Given the description of an element on the screen output the (x, y) to click on. 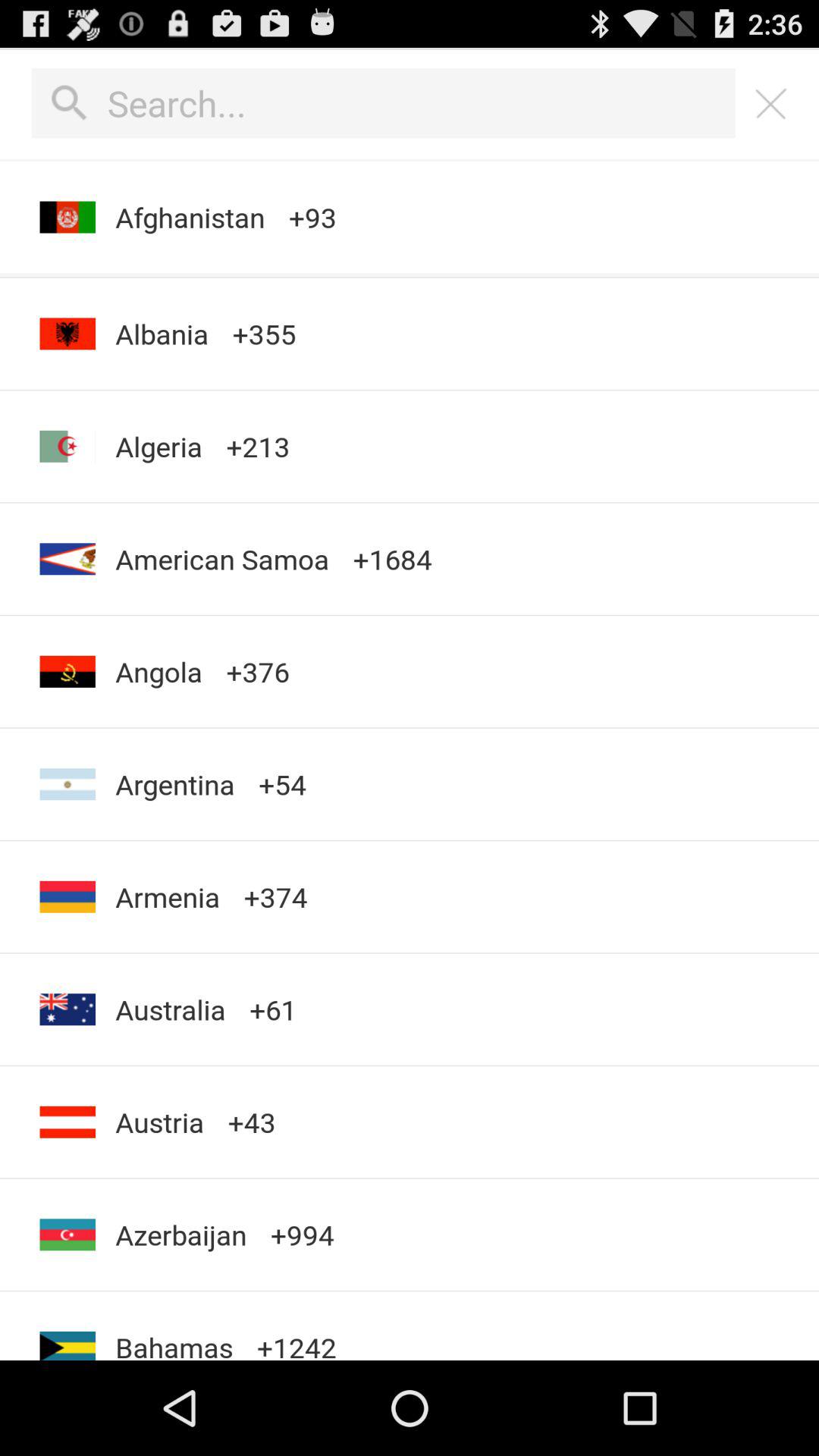
launch app next to the australia app (272, 1009)
